Given the description of an element on the screen output the (x, y) to click on. 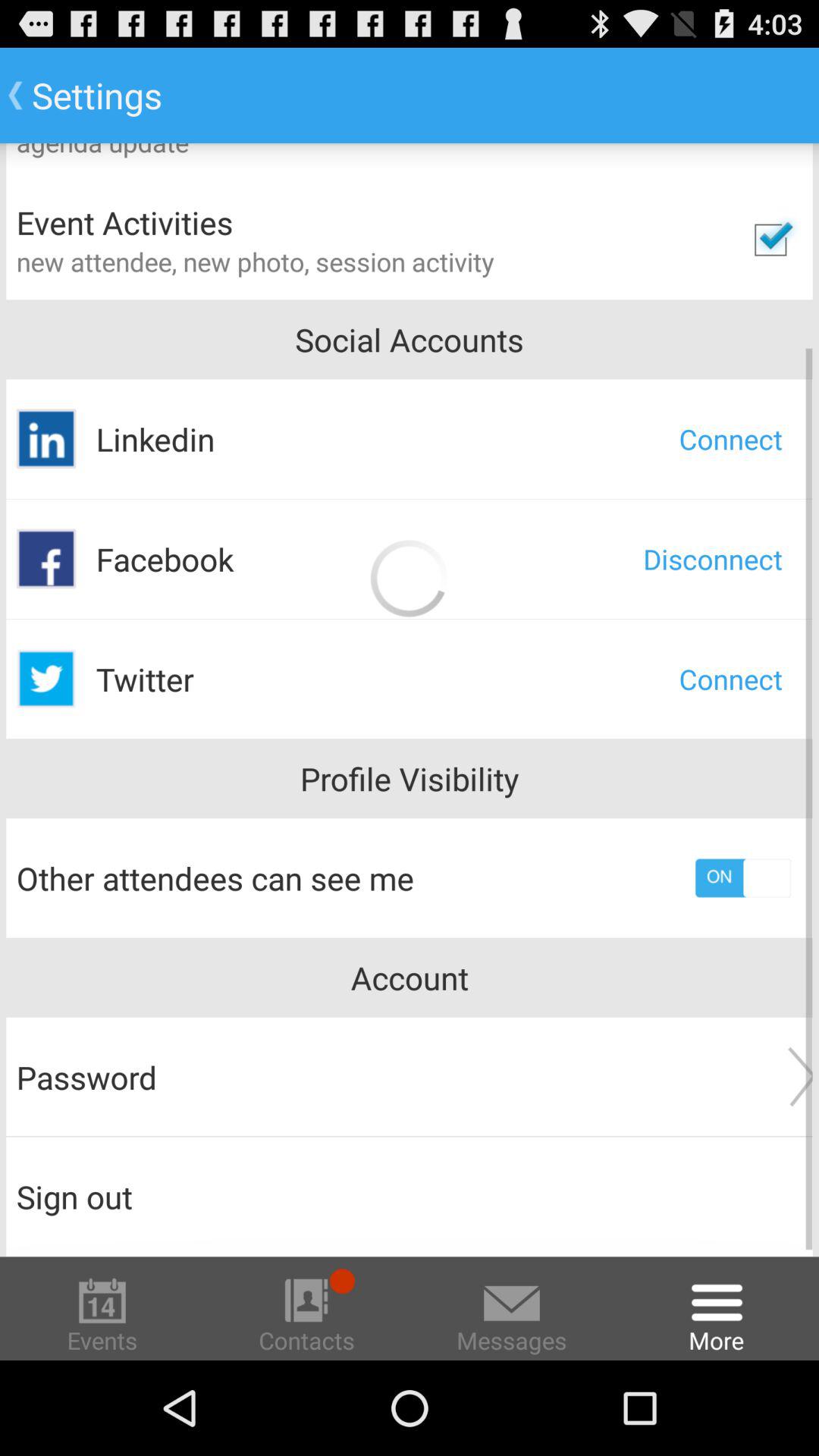
profile visibility switch (742, 877)
